Given the description of an element on the screen output the (x, y) to click on. 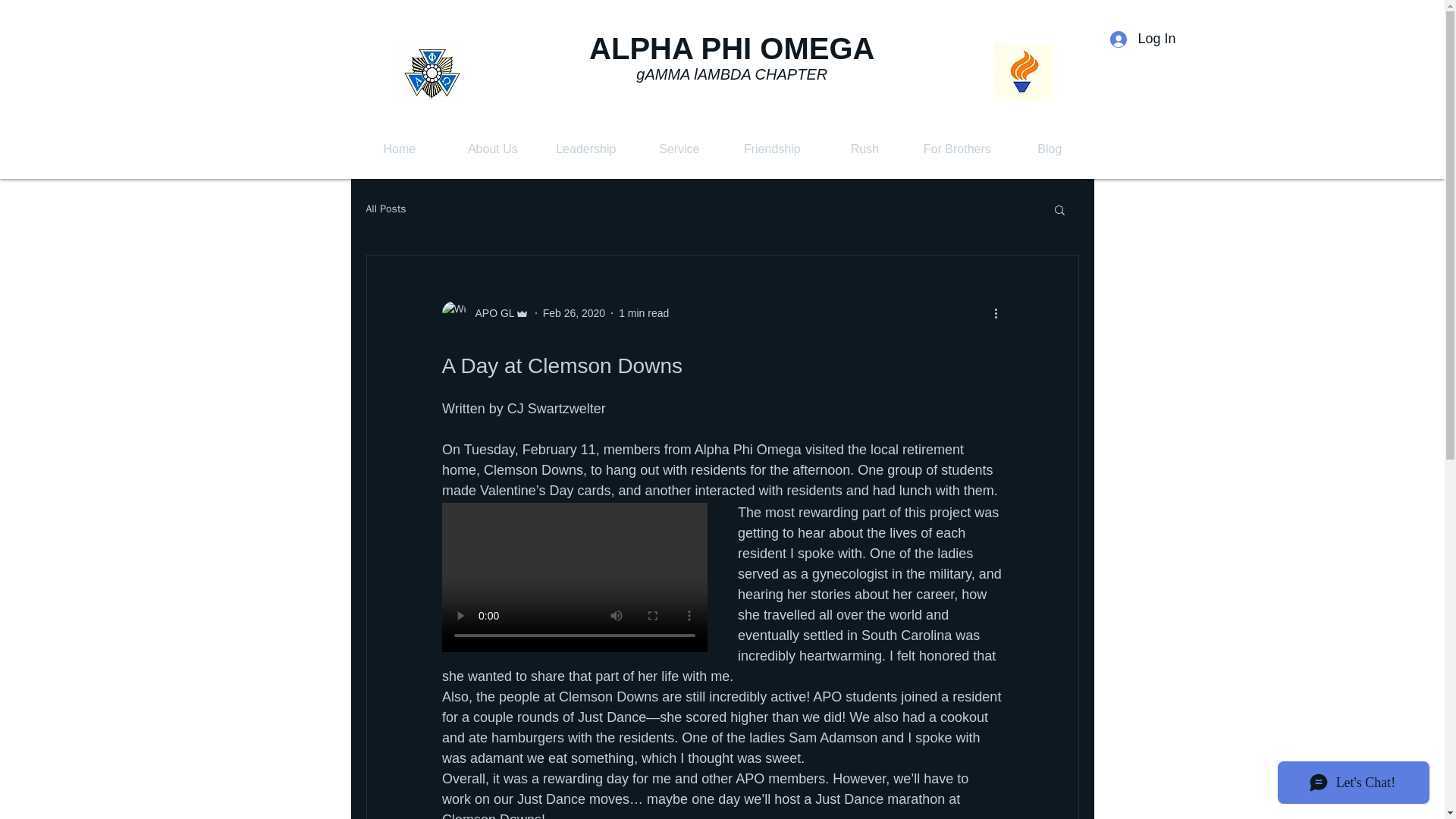
About Us (491, 149)
Leadership (584, 149)
Rush (864, 149)
Friendship (771, 149)
APO GL (489, 312)
Home (398, 149)
Log In (1142, 39)
APO GL (484, 313)
Feb 26, 2020 (574, 312)
All Posts (385, 209)
For Brothers (957, 149)
1 min read (643, 312)
Blog (1049, 149)
Service (678, 149)
